Given the description of an element on the screen output the (x, y) to click on. 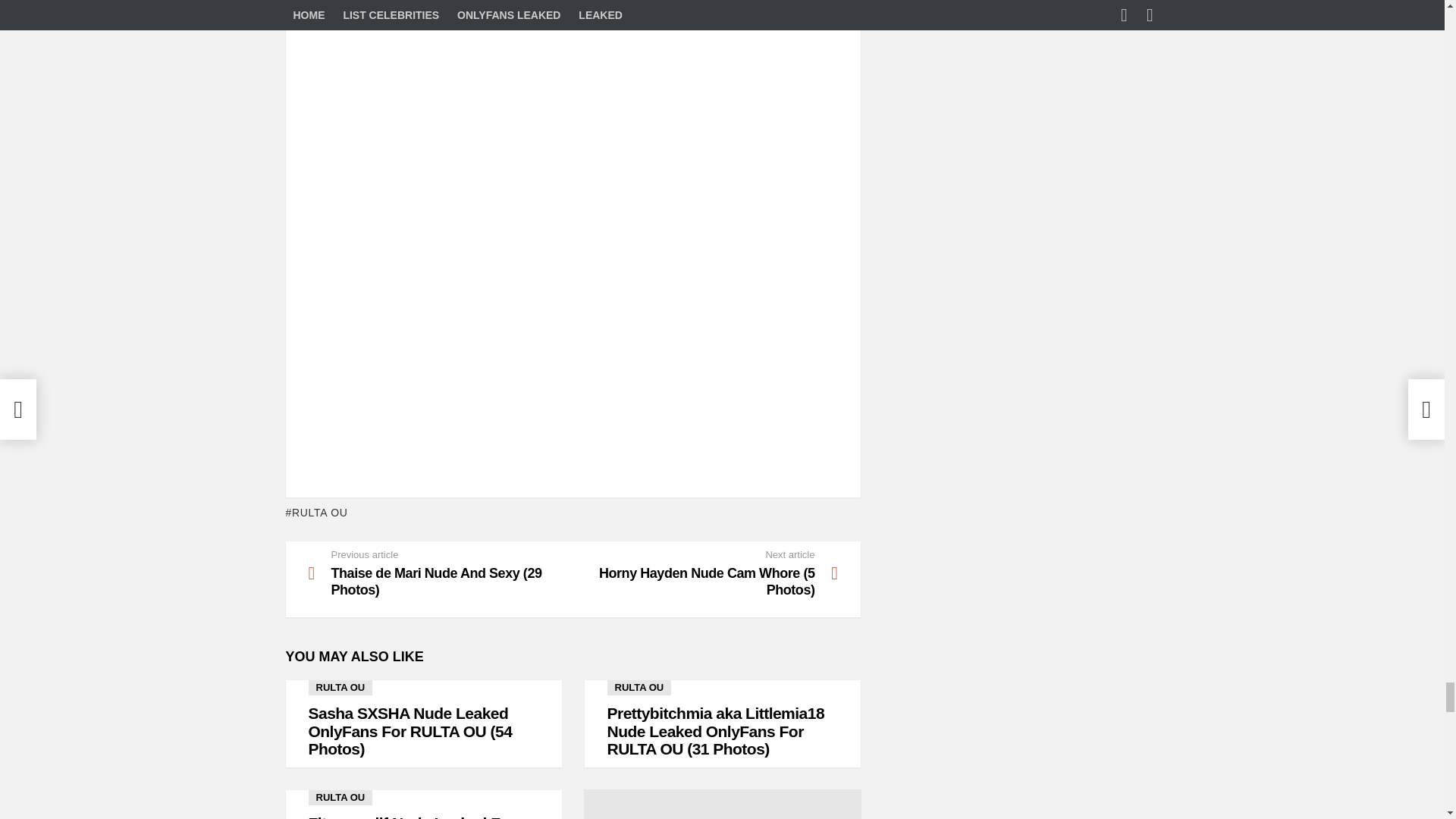
RULTA OU (339, 797)
RULTA OU (316, 512)
RULTA OU (639, 687)
RULTA OU (339, 687)
